Given the description of an element on the screen output the (x, y) to click on. 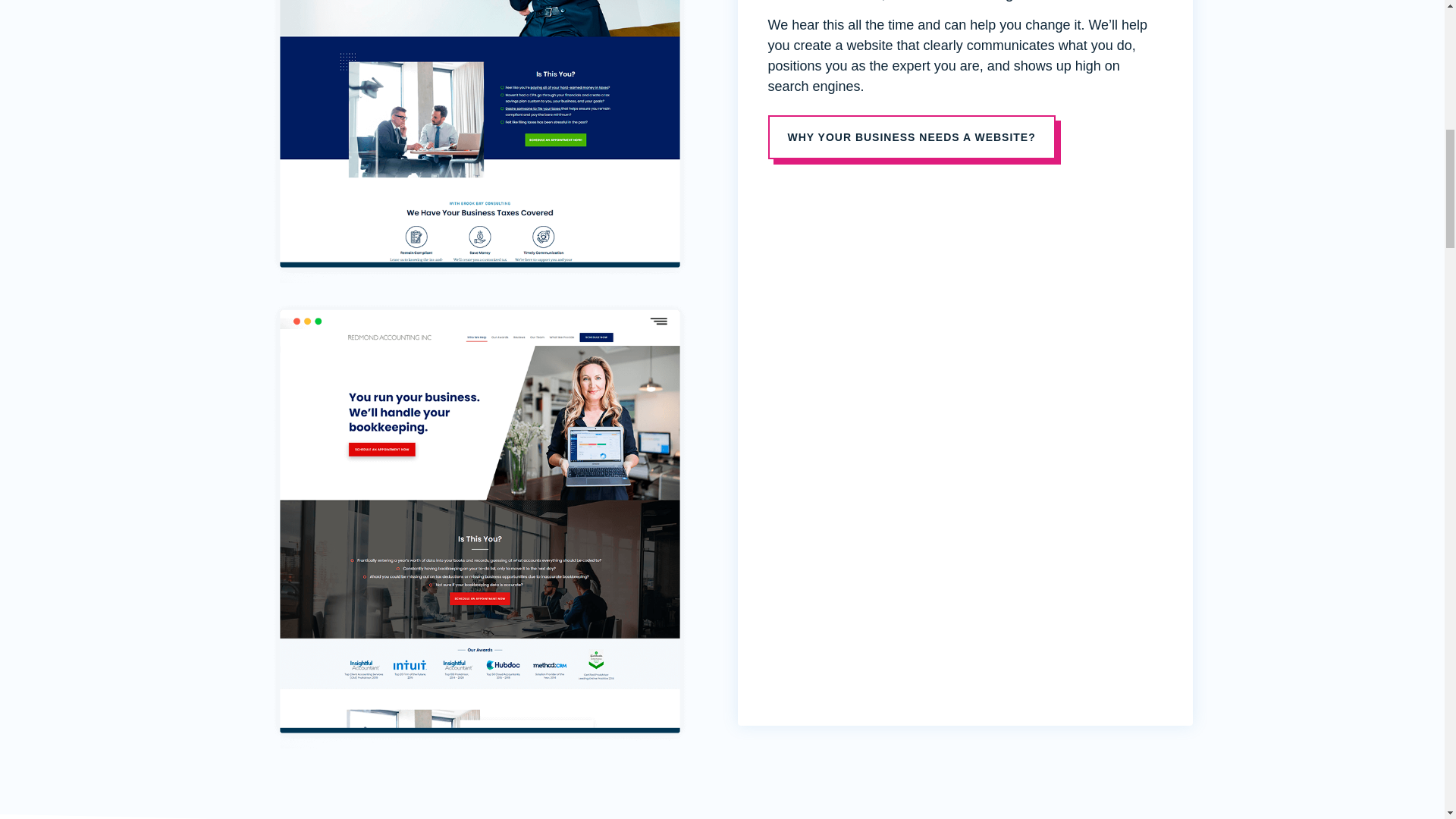
WHY YOUR BUSINESS NEEDS A WEBSITE? (910, 136)
Website Building 2 (479, 141)
